Given the description of an element on the screen output the (x, y) to click on. 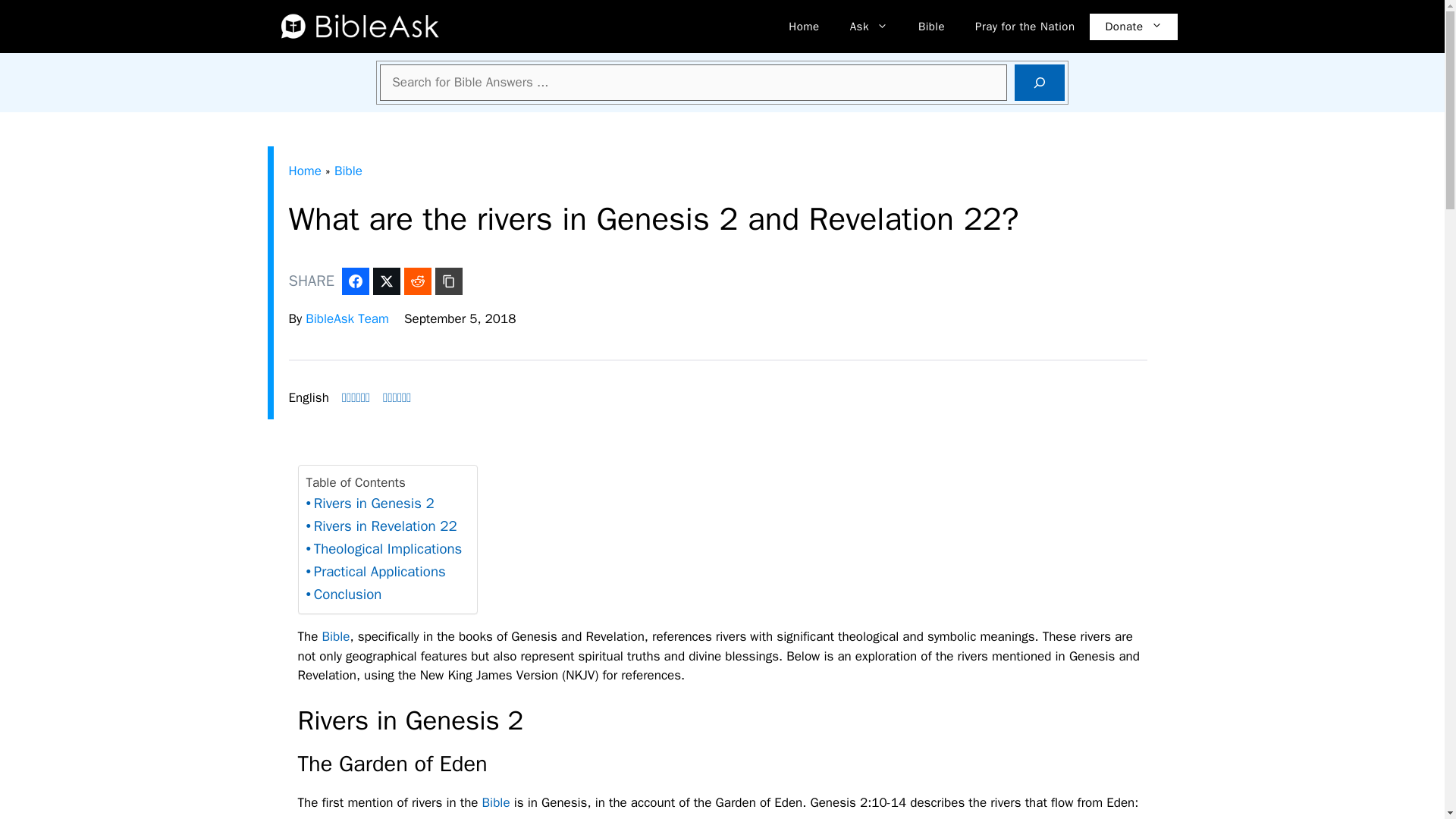
Conclusion (343, 594)
Practical Applications (375, 572)
Rivers in Revelation 22 (381, 526)
Theological Implications (384, 549)
BibleAsk Team (346, 318)
Home (803, 26)
Rivers in Genesis 2 (369, 504)
Practical Applications (375, 572)
Share on Post (417, 280)
Donate (1132, 26)
